Given the description of an element on the screen output the (x, y) to click on. 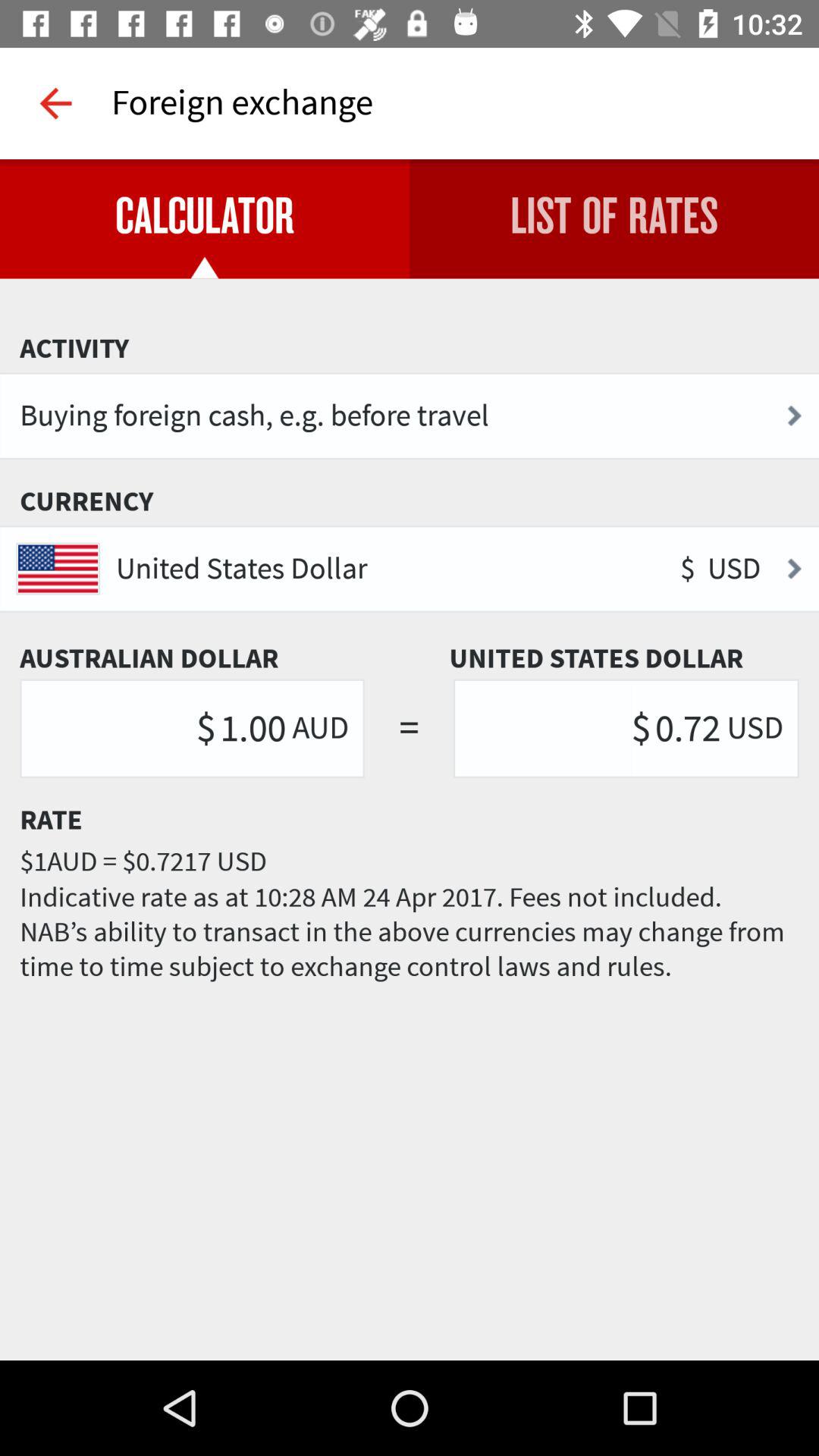
swipe to the buying foreign cash (409, 415)
